Given the description of an element on the screen output the (x, y) to click on. 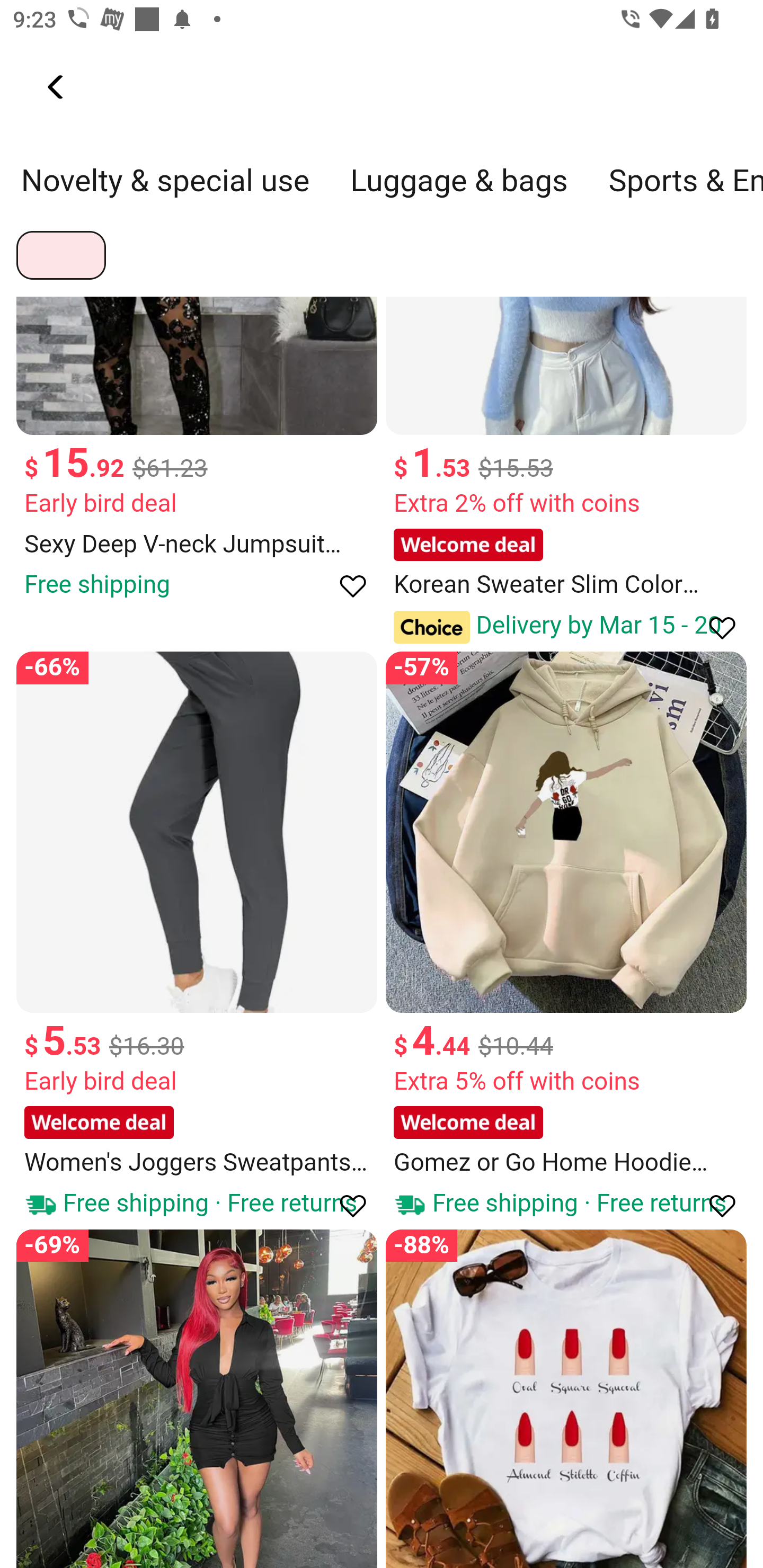
 (57, 86)
Novelty & special use (164, 189)
Luggage & bags (459, 189)
Sports & Entertainment (685, 189)
 (344, 585)
 (713, 625)
 (344, 1204)
 (713, 1204)
